Given the description of an element on the screen output the (x, y) to click on. 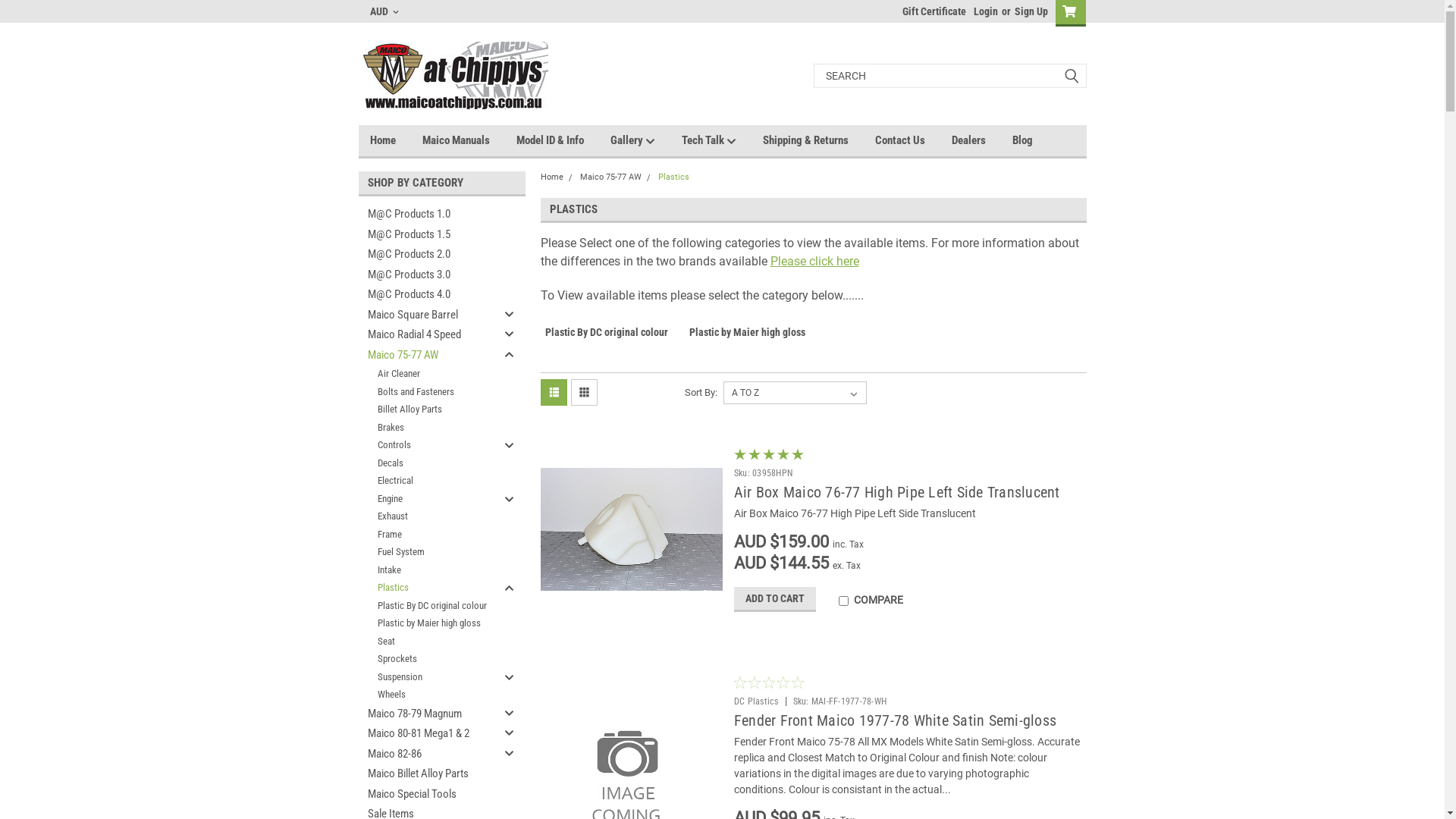
Blog Element type: text (1034, 140)
Model ID & Info Element type: text (562, 140)
DC Plastics Element type: text (756, 701)
Billet Alloy Parts Element type: text (428, 409)
Gift Certificate Element type: text (930, 11)
Exhaust Element type: text (428, 516)
Login Element type: text (985, 11)
Maico 82-86 Element type: text (428, 753)
Maico at Chippys Element type: hover (452, 74)
Plastic By DC original colour Element type: text (605, 340)
Brakes Element type: text (428, 427)
Decals Element type: text (428, 462)
Plastic by Maier high gloss Element type: text (746, 340)
Maico Square Barrel Element type: text (428, 314)
Maico Billet Alloy Parts Element type: text (428, 773)
submit Element type: hover (1070, 75)
Air Box Maico 76-77 High Pipe Left Side Translucent Element type: text (897, 492)
Plastic By DC original colour Element type: text (428, 605)
M@C Products 3.0 Element type: text (428, 273)
Engine Element type: text (428, 498)
Maico 80-81 Mega1 & 2 Element type: text (428, 733)
Sku: 03958HPN Element type: text (763, 472)
Maico Manuals Element type: text (468, 140)
Sku: MAI-FF-1977-78-WH Element type: text (840, 701)
Maico 78-79 Magnum Element type: text (428, 713)
M@C Products 1.5 Element type: text (428, 234)
Maico 75-77 AW Element type: text (428, 354)
Intake Element type: text (428, 570)
Air Cleaner Element type: text (428, 373)
Sign Up Element type: text (1028, 11)
Contact Us Element type: text (913, 140)
M@C Products 2.0 Element type: text (428, 254)
Plastics Element type: text (673, 177)
Frame Element type: text (428, 533)
Suspension Element type: text (428, 676)
Dealers Element type: text (980, 140)
Controls Element type: text (428, 445)
ADD TO CART Element type: text (774, 598)
Please click here Element type: text (814, 260)
Air Box Maico 76-77 High Pipe Left Side Translucent Element type: hover (627, 528)
Fuel System Element type: text (428, 551)
Maico 75-77 AW Element type: text (609, 177)
Electrical Element type: text (428, 480)
M@C Products 1.0 Element type: text (428, 213)
Gallery Element type: text (644, 140)
Fender Front Maico 1977-78 White Satin Semi-gloss Element type: text (895, 720)
Home Element type: text (396, 140)
Maico Radial 4 Speed Element type: text (428, 334)
Shipping & Returns Element type: text (818, 140)
Bolts and Fasteners Element type: text (428, 391)
Plastics Element type: text (428, 587)
Maico Special Tools Element type: text (428, 794)
Seat Element type: text (428, 641)
Home Element type: text (550, 177)
Plastic by Maier high gloss Element type: text (428, 623)
M@C Products 4.0 Element type: text (428, 294)
AUD Element type: text (384, 11)
Sprockets Element type: text (428, 658)
Tech Talk Element type: text (721, 140)
Wheels Element type: text (428, 694)
